Given the description of an element on the screen output the (x, y) to click on. 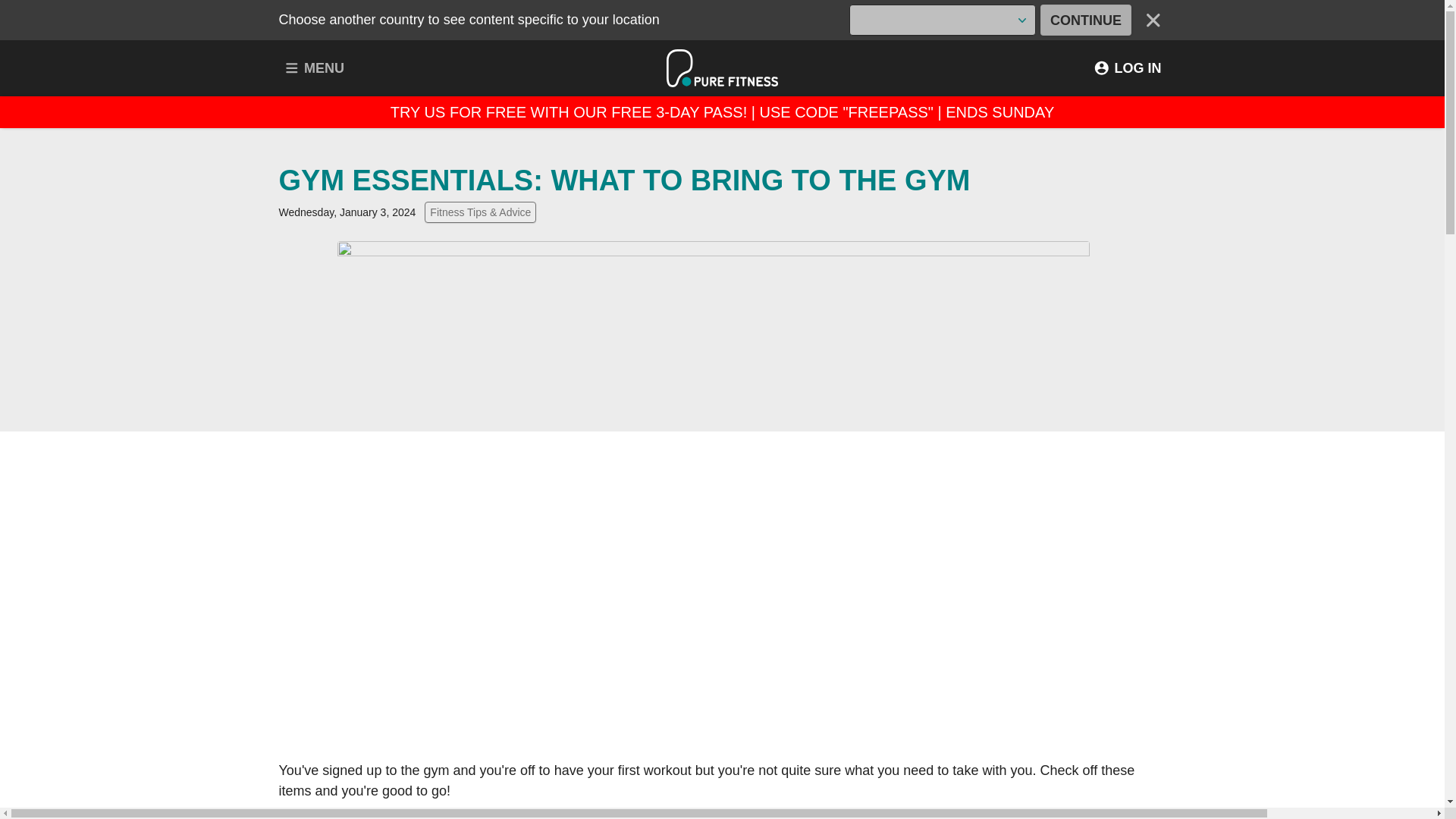
CONTINUE (1086, 20)
LOG IN (1127, 68)
CLOSE (1153, 20)
MENU (314, 68)
